Given the description of an element on the screen output the (x, y) to click on. 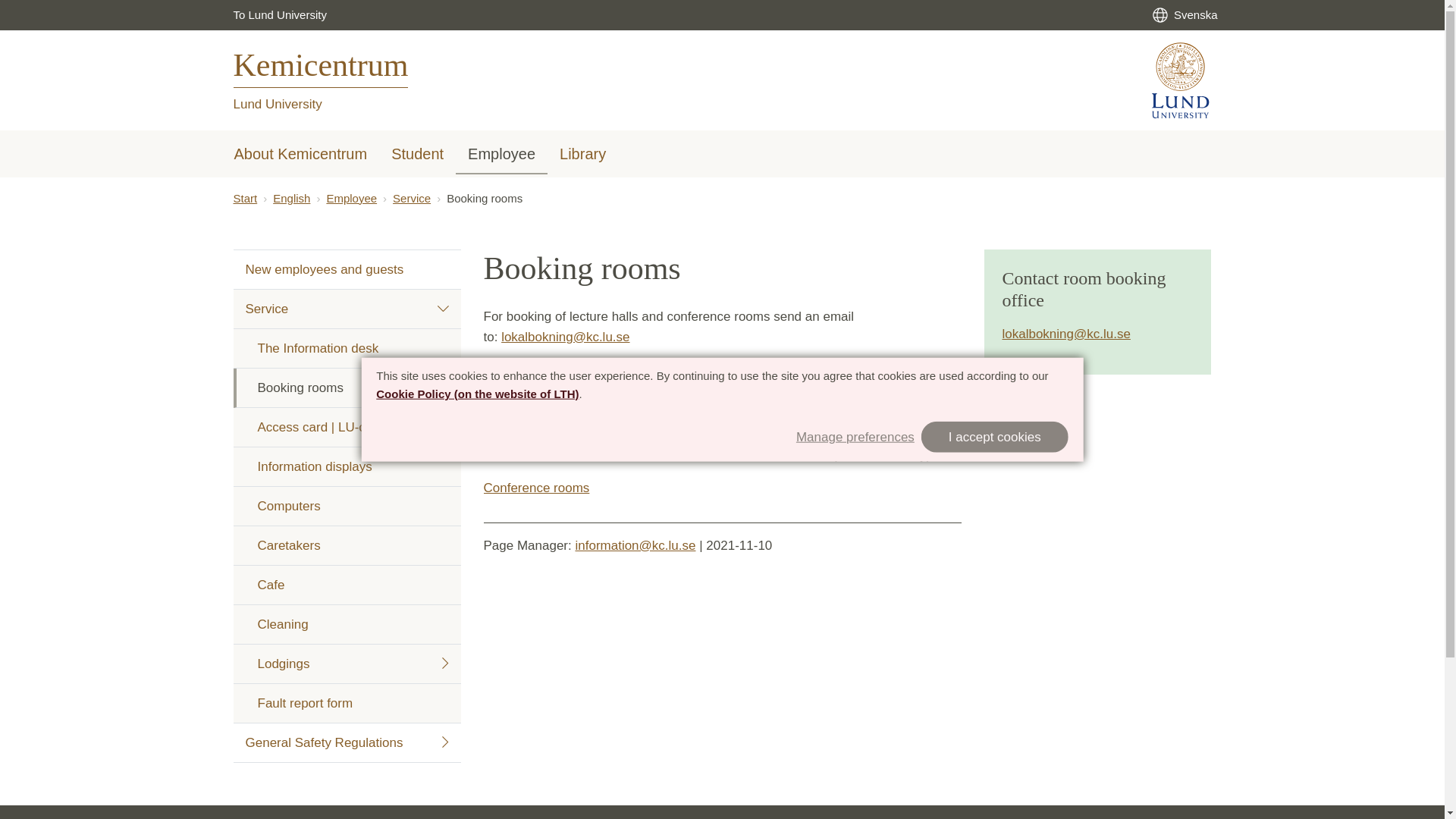
About Kemicentrum (299, 154)
start (244, 197)
Service (411, 197)
English (291, 197)
Employee (351, 197)
Kemicentrum (320, 78)
Manage preferences (854, 436)
English (291, 197)
Kemicentrum (320, 78)
Lund University (276, 104)
To Lund University (280, 15)
Start (244, 197)
Booking rooms (482, 198)
I accept cookies (994, 436)
Employee (501, 154)
